Given the description of an element on the screen output the (x, y) to click on. 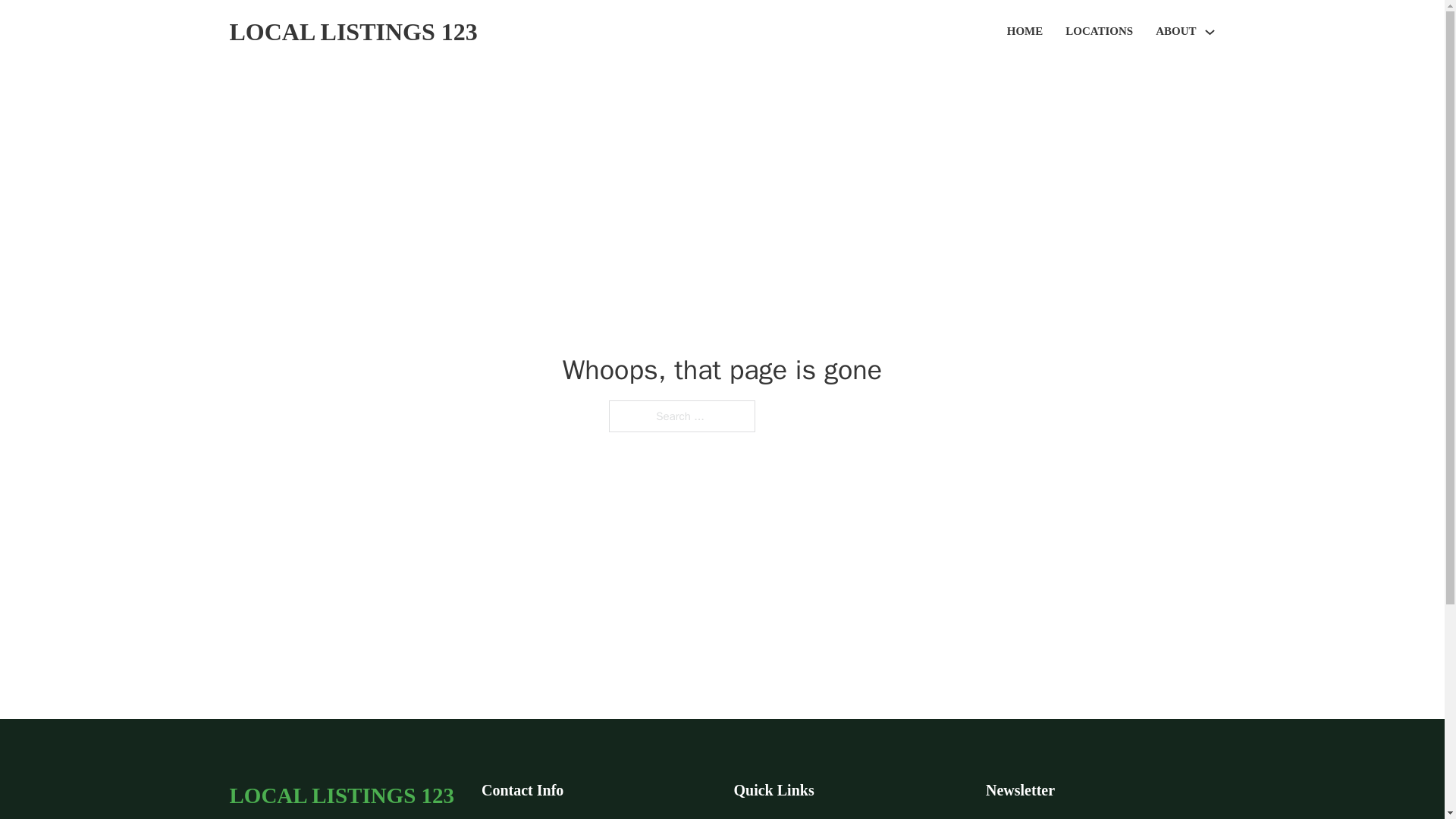
LOCATIONS (1098, 31)
LOCAL LISTINGS 123 (341, 795)
LOCAL LISTINGS 123 (352, 31)
HOME (1025, 31)
